Given the description of an element on the screen output the (x, y) to click on. 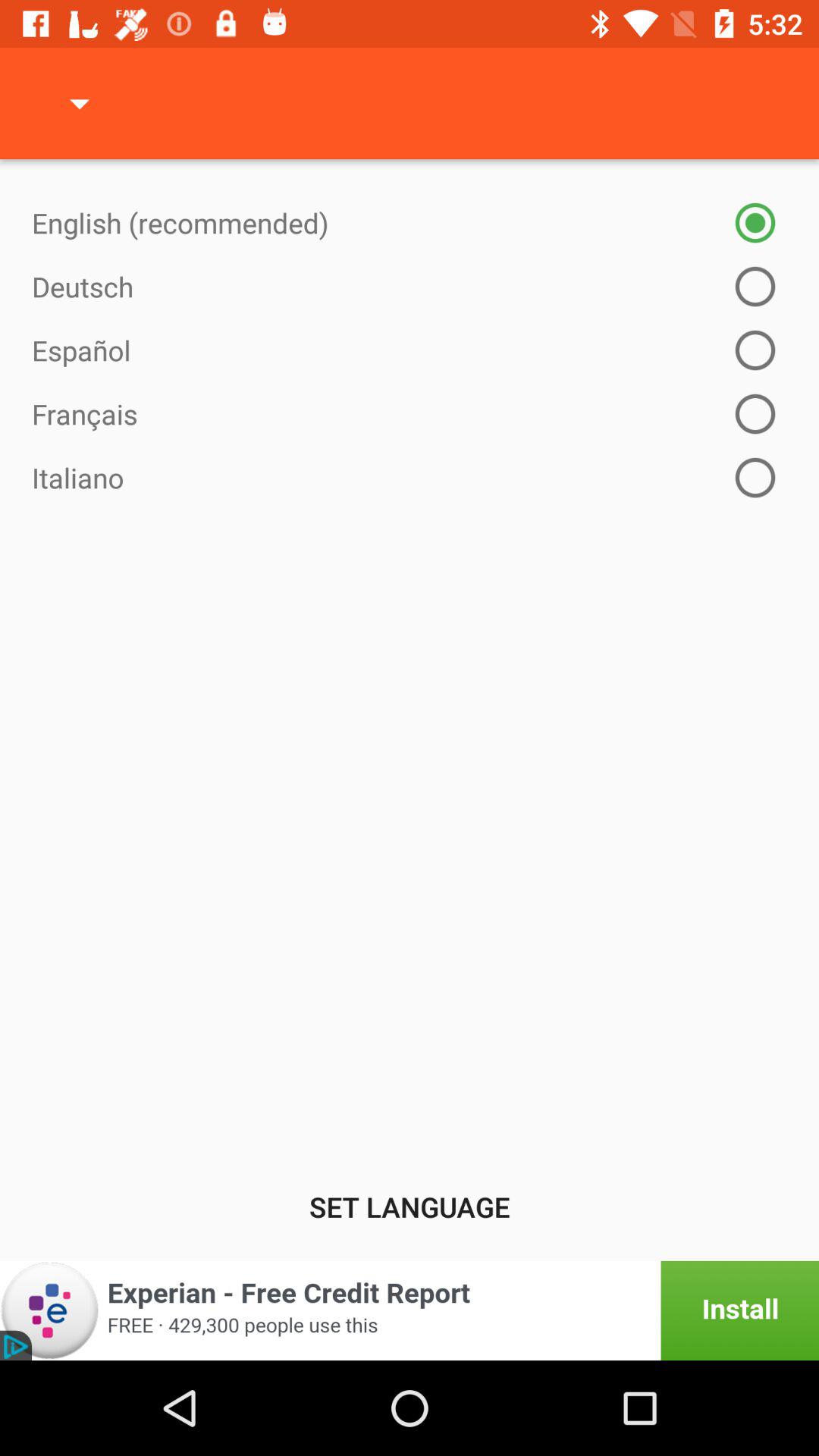
if your having credit problems hit the advertisement below (409, 1310)
